Given the description of an element on the screen output the (x, y) to click on. 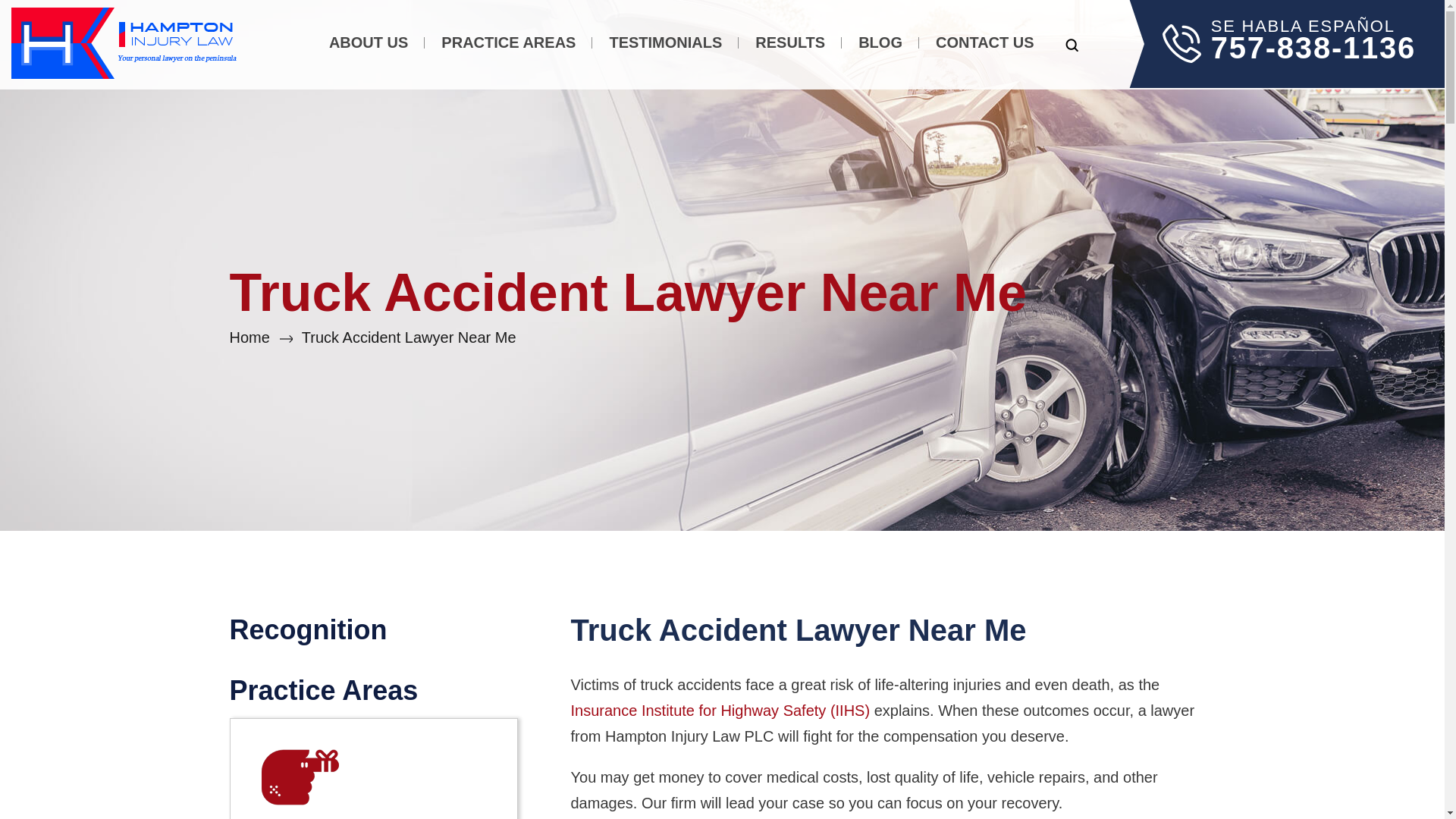
Go to Hampton Injury Law. (248, 337)
